Given the description of an element on the screen output the (x, y) to click on. 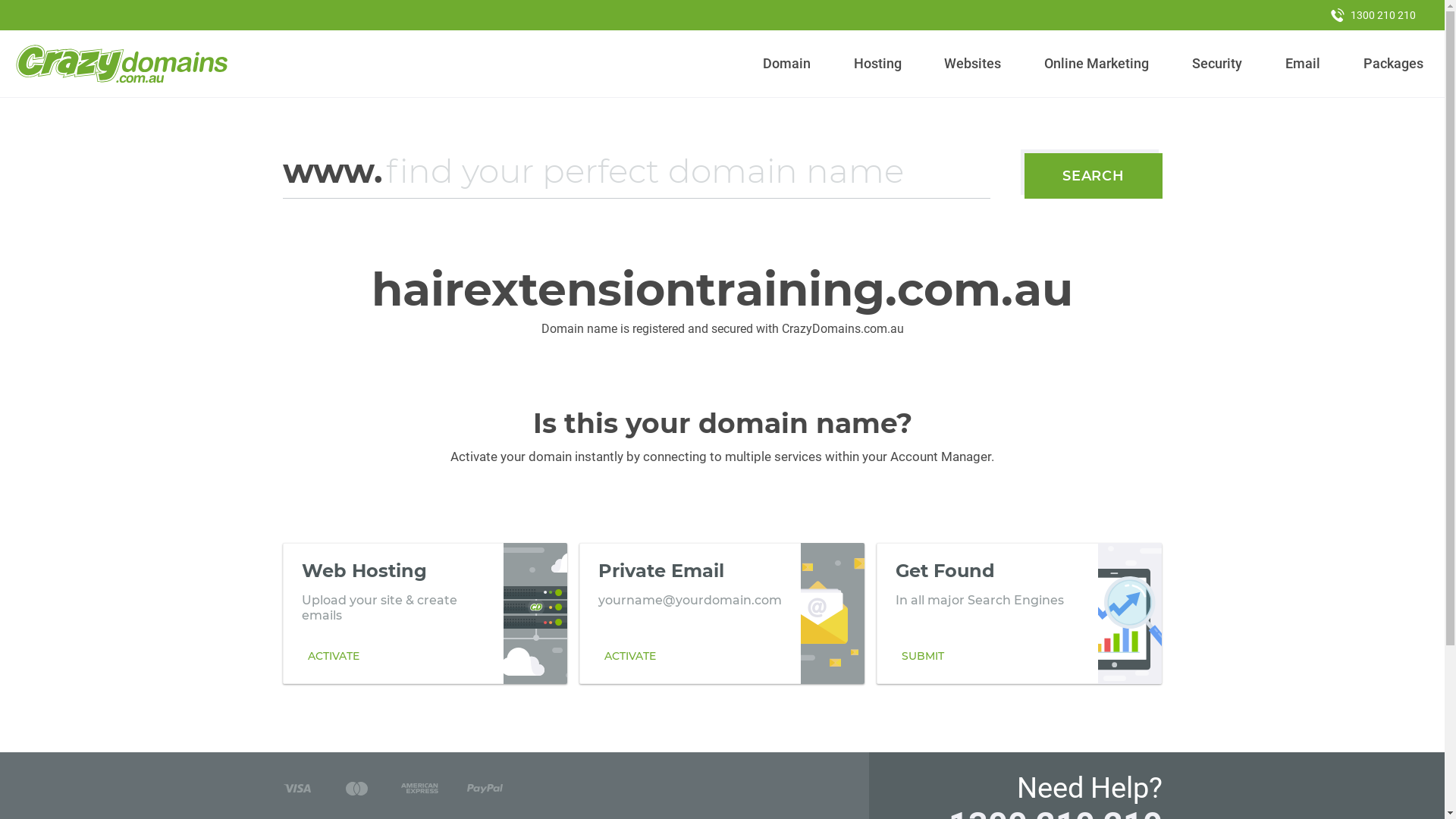
SEARCH Element type: text (1092, 175)
Websites Element type: text (972, 63)
Online Marketing Element type: text (1096, 63)
1300 210 210 Element type: text (1373, 15)
Hosting Element type: text (877, 63)
Packages Element type: text (1392, 63)
Domain Element type: text (786, 63)
Email Element type: text (1302, 63)
Web Hosting
Upload your site & create emails
ACTIVATE Element type: text (424, 613)
Security Element type: text (1217, 63)
Private Email
yourname@yourdomain.com
ACTIVATE Element type: text (721, 613)
Get Found
In all major Search Engines
SUBMIT Element type: text (1018, 613)
